Given the description of an element on the screen output the (x, y) to click on. 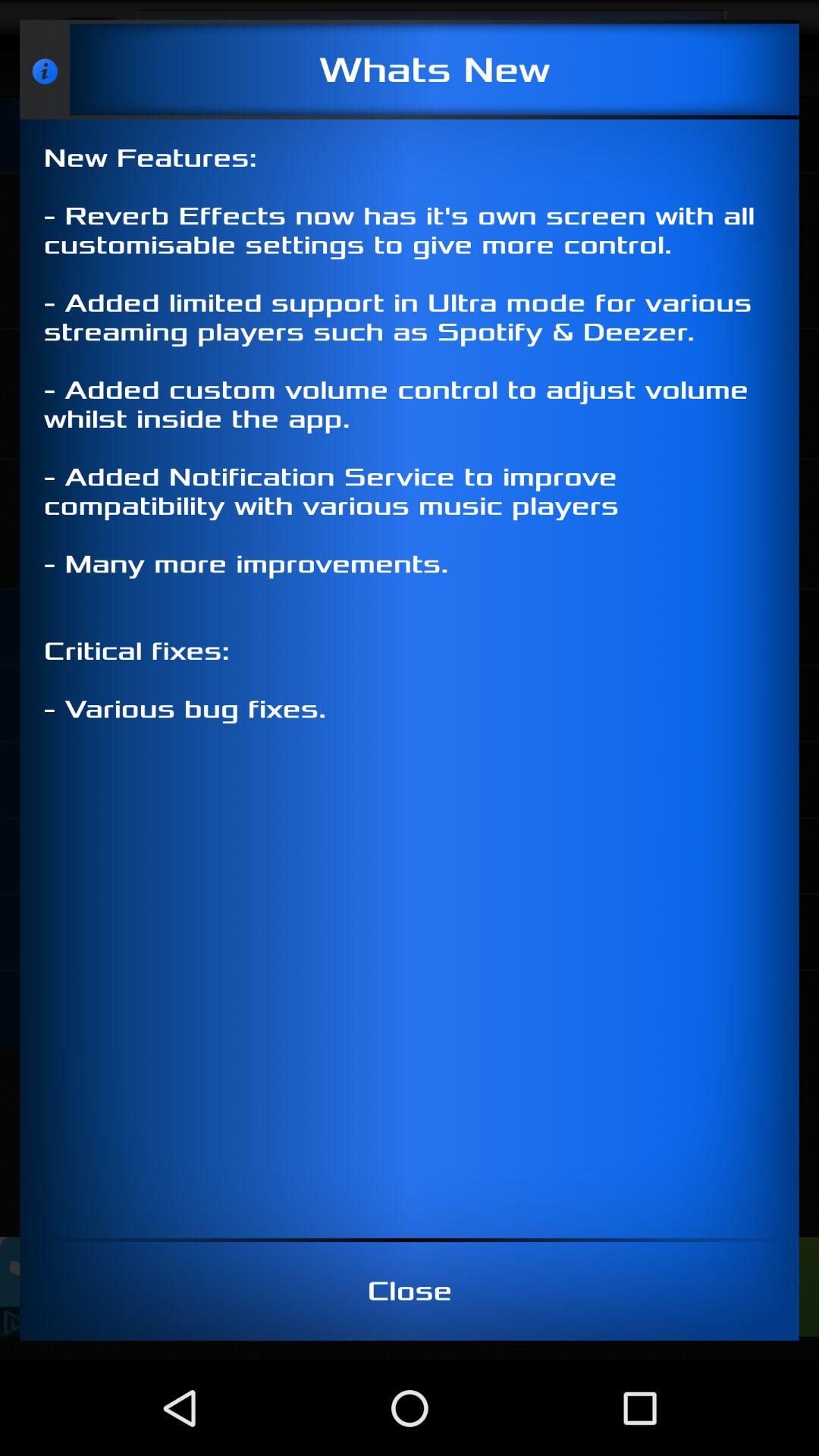
swipe to the new features reverb (409, 678)
